Given the description of an element on the screen output the (x, y) to click on. 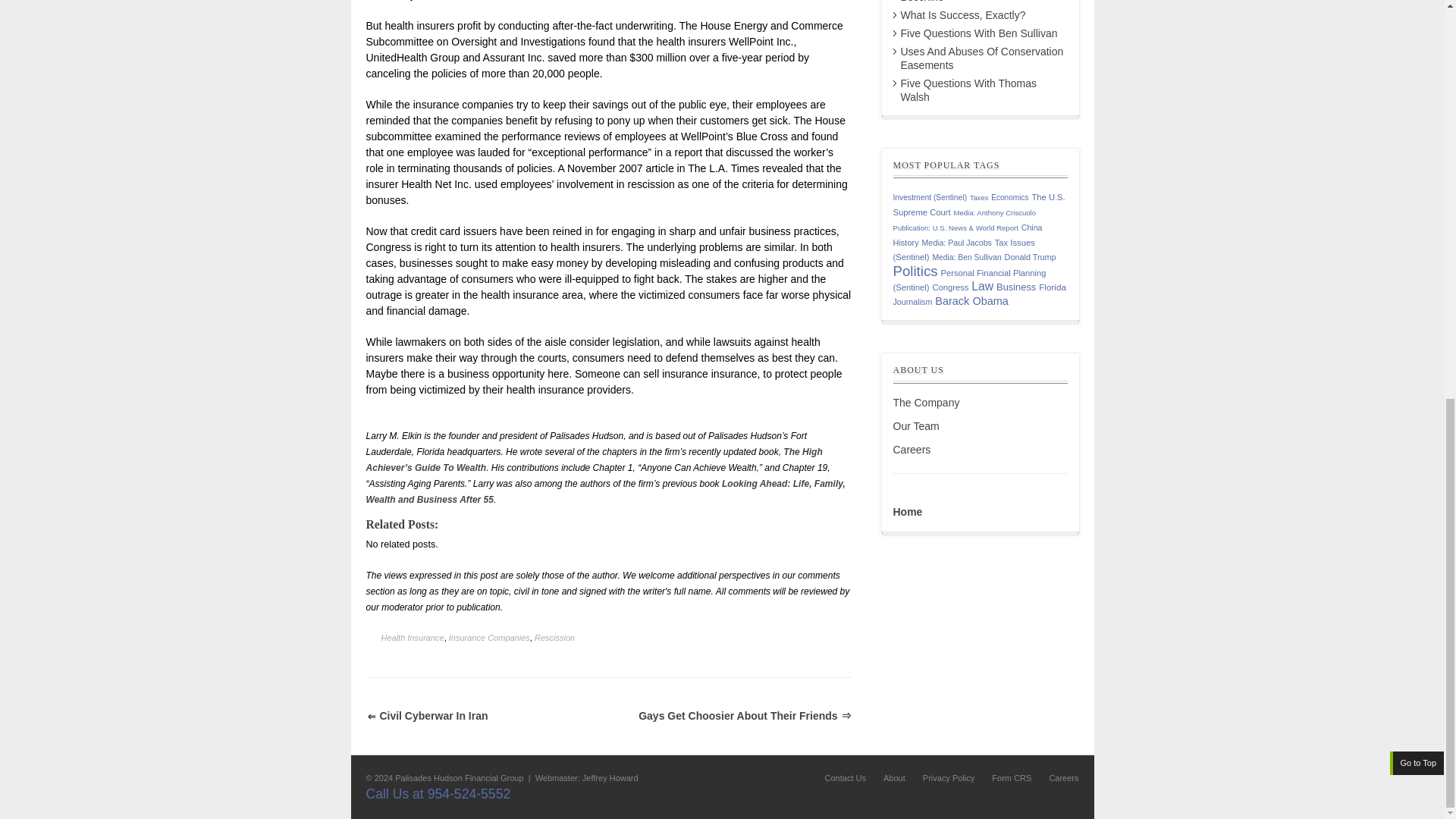
Five Questions With Ben Sullivan (979, 33)
What Is Success, Exactly? (963, 15)
Looking Ahead: Life, Family, Wealth and Business After 55 (604, 491)
Health Insurance (412, 637)
Rescission (554, 637)
Uses And Abuses Of Conservation Easements (982, 58)
Five Questions With Pascale Leon-Bocchino (984, 1)
Insurance Companies (488, 637)
